Given the description of an element on the screen output the (x, y) to click on. 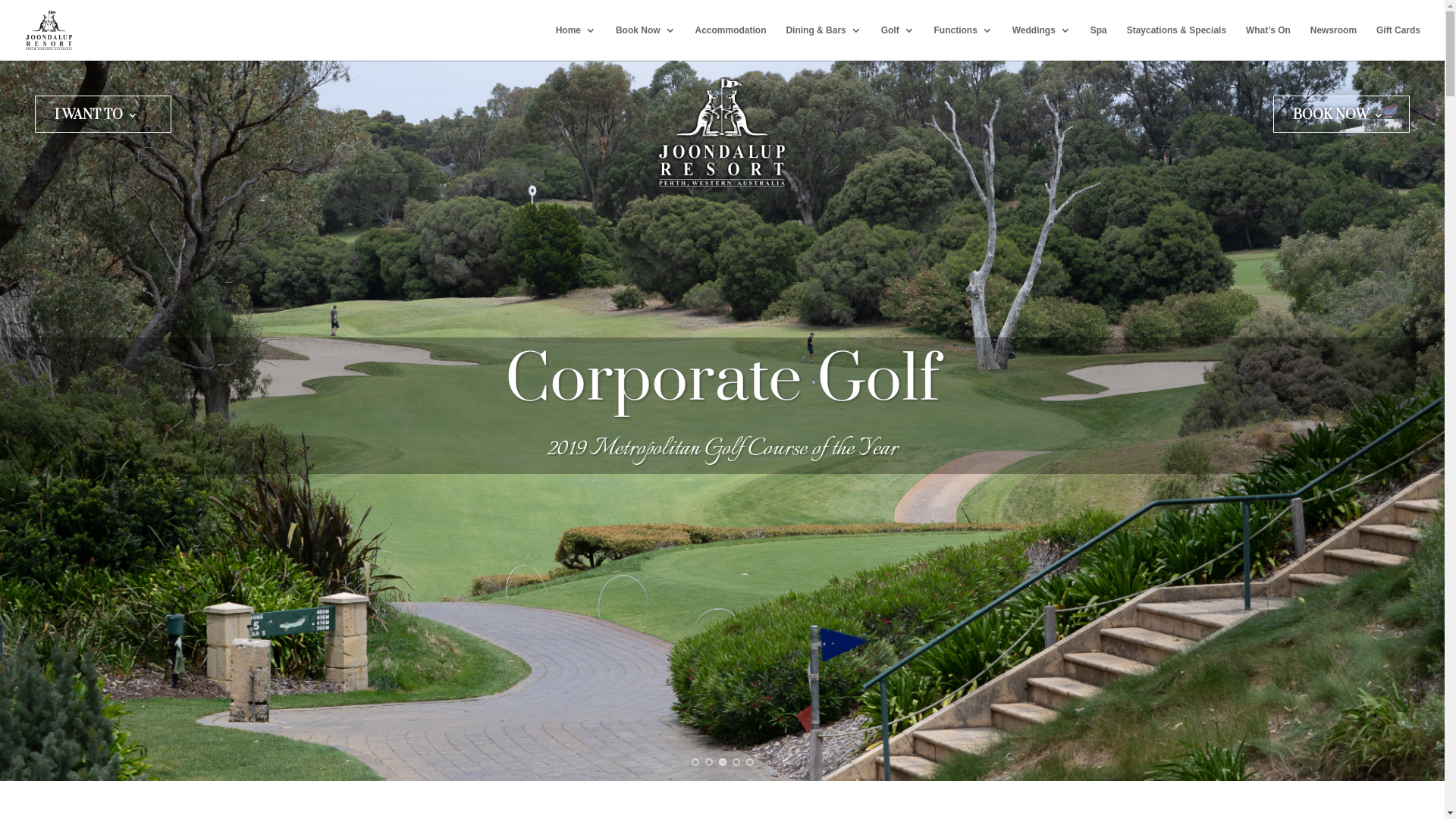
Spa Element type: text (1098, 42)
I WANT TO Element type: text (96, 117)
Accommodation Element type: text (729, 42)
Newsroom Element type: text (1333, 42)
Joondalup Resort - Logo - Primary Element type: hover (721, 132)
Golf Element type: text (897, 42)
Staycations & Specials Element type: text (1176, 42)
Functions Element type: text (963, 42)
Dining & Bars Element type: text (822, 42)
Weddings Element type: text (1041, 42)
BOOK NOW Element type: text (1337, 117)
Home Element type: text (575, 42)
Skip to content Element type: text (0, 0)
Gift Cards Element type: text (1398, 42)
Book Now Element type: text (645, 42)
